Given the description of an element on the screen output the (x, y) to click on. 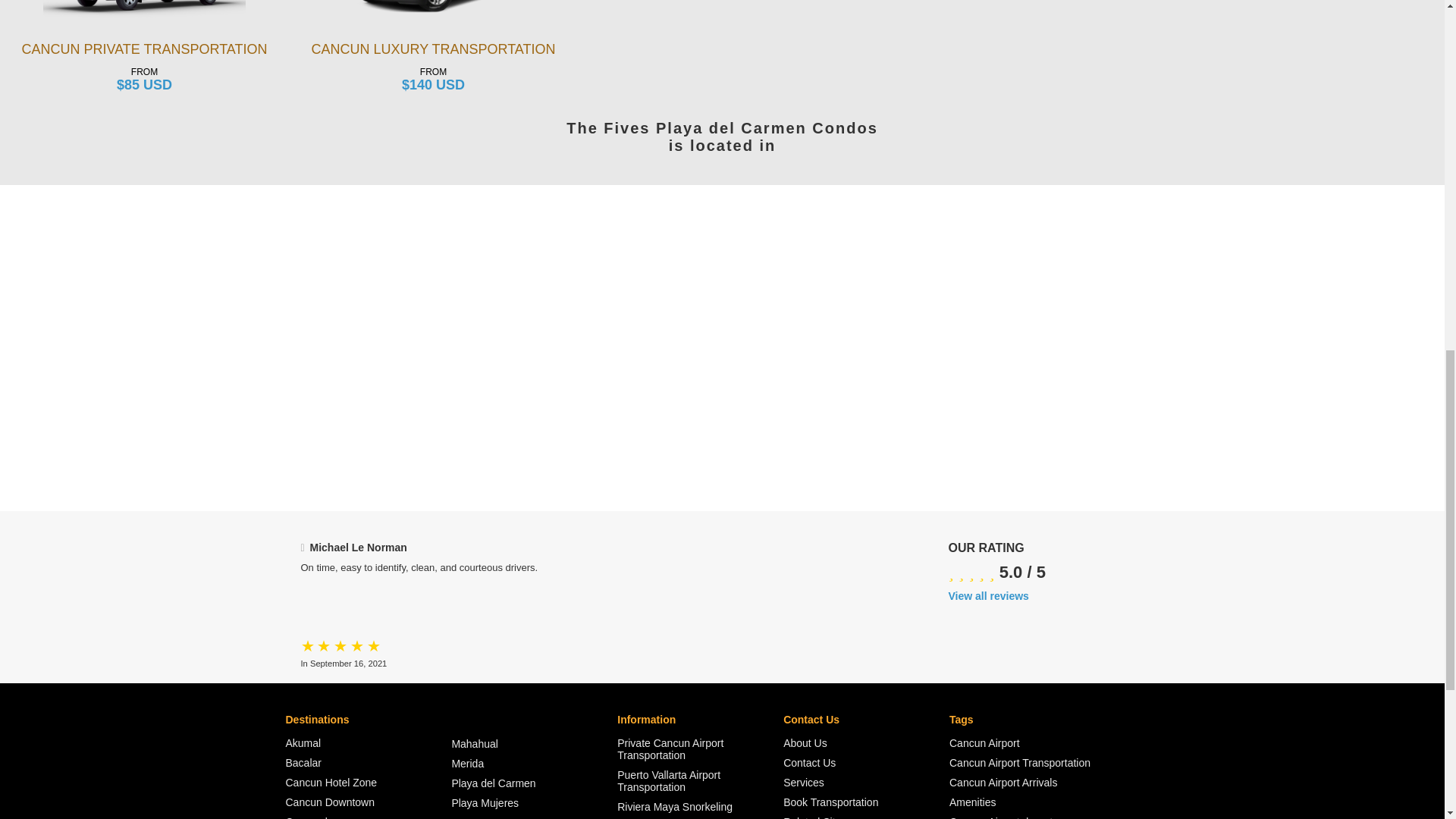
View all reviews (1049, 595)
CANCUN LUXURY TRANSPORTATION (433, 49)
Bacalar (368, 762)
Akumal (368, 743)
CANCUN PRIVATE TRANSPORTATION (144, 49)
